Given the description of an element on the screen output the (x, y) to click on. 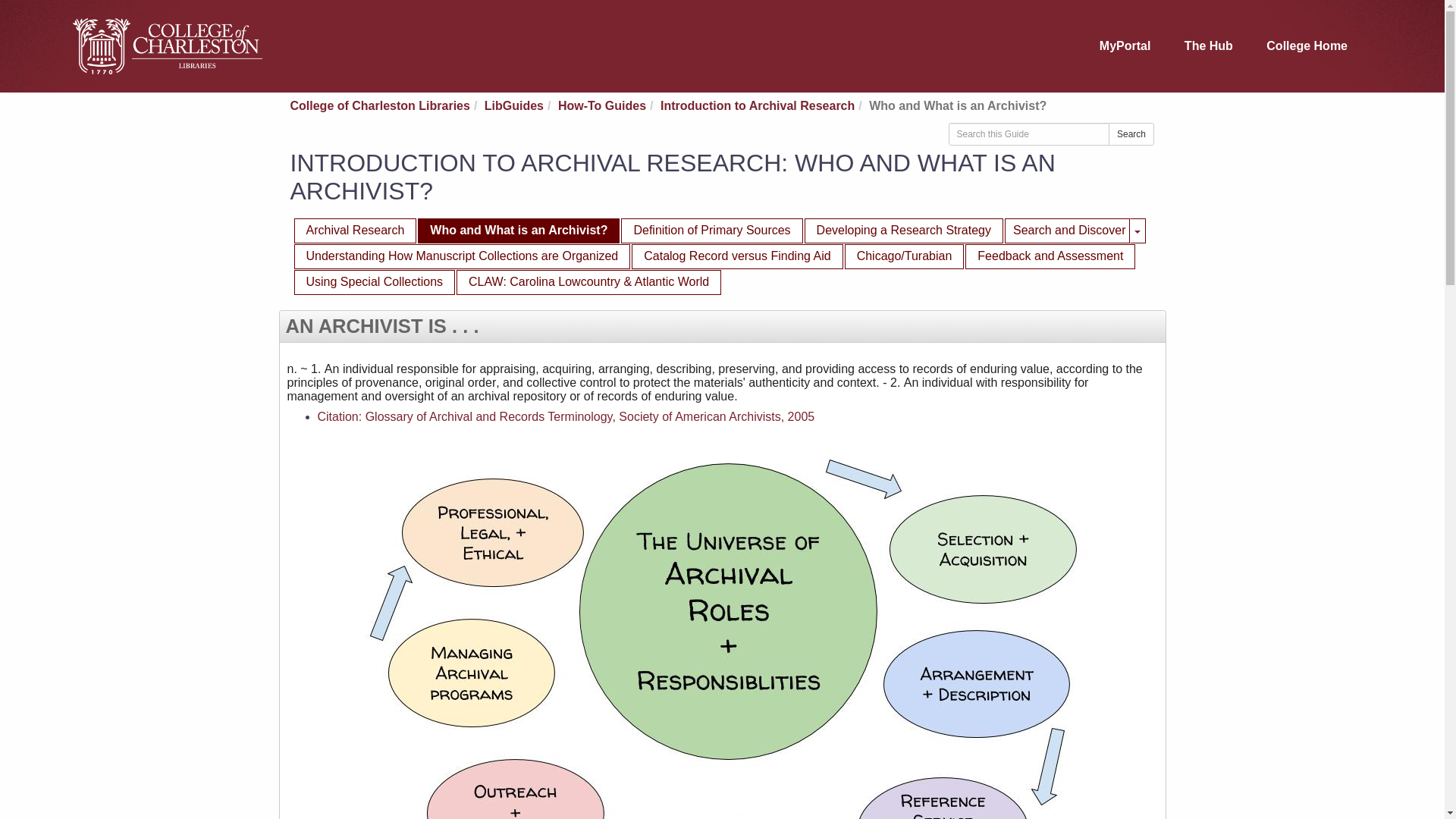
Catalog Record versus Finding Aid (737, 256)
MyPortal (1125, 45)
Using Special Collections (374, 282)
Search and Discover (1067, 230)
Understanding How Manuscript Collections are Organized (462, 256)
The Hub (1208, 45)
Search (1131, 133)
College Home (1307, 45)
LibGuides (513, 105)
Return to home (167, 46)
Who and What is an Archivist? (518, 230)
Toggle Dropdown (1137, 230)
Archival Research (1050, 256)
